Given the description of an element on the screen output the (x, y) to click on. 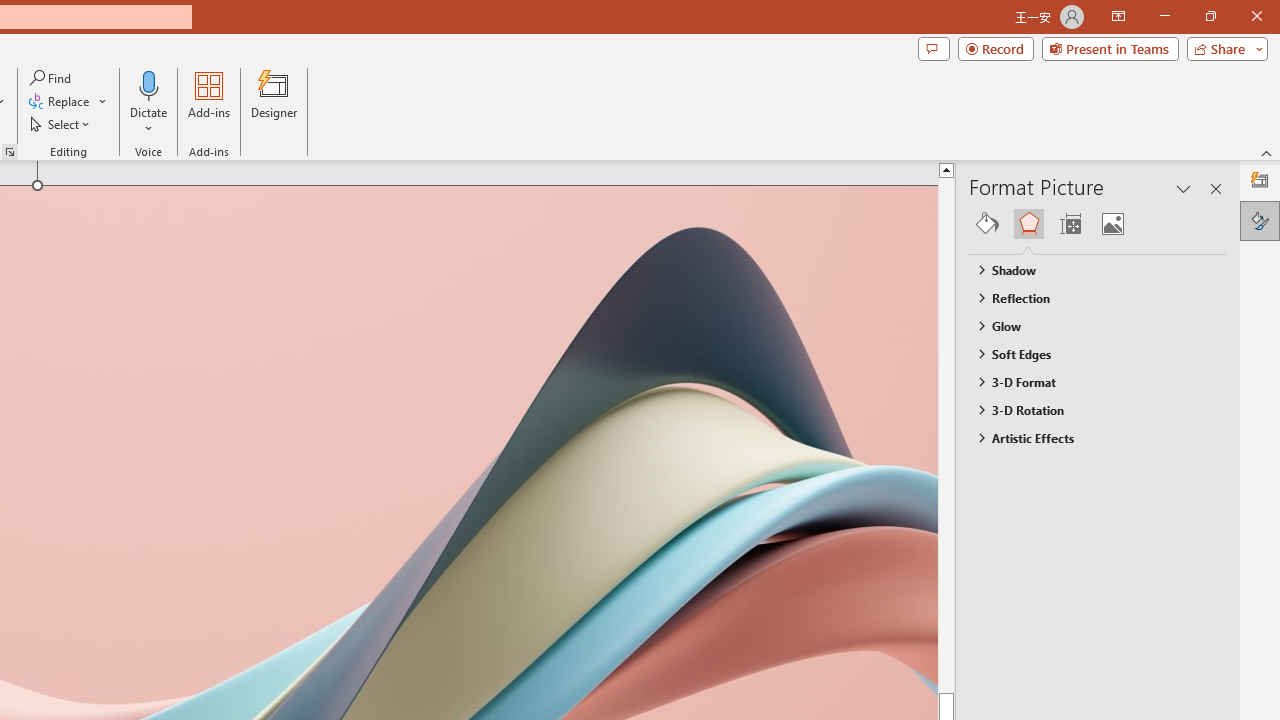
Class: NetUIGalleryContainer (1098, 223)
Fill & Line (987, 223)
Artistic Effects (1088, 438)
Size & Properties (1070, 223)
